Given the description of an element on the screen output the (x, y) to click on. 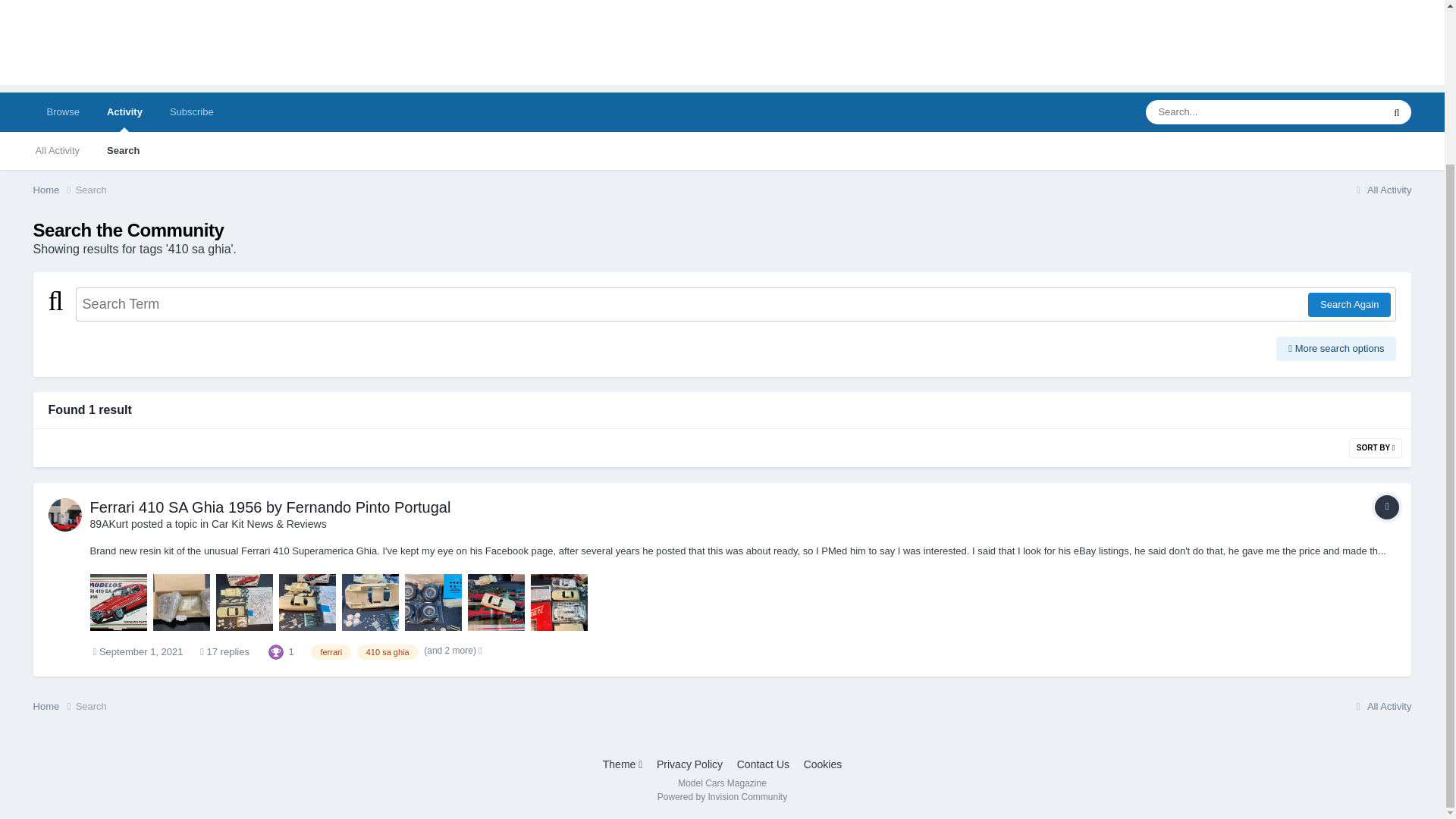
Home (54, 190)
Browse (63, 111)
Activity (124, 111)
Search (90, 189)
Go to 89AKurt's profile (64, 514)
Find other content tagged with 'ferrari' (330, 652)
Search Again (1348, 304)
More search options (1336, 348)
Find other content tagged with '410 sa ghia' (387, 652)
Home (54, 190)
Subscribe (191, 111)
Home (54, 706)
Go to 89AKurt's profile (109, 523)
Thanks (275, 650)
All Activity (1380, 189)
